Given the description of an element on the screen output the (x, y) to click on. 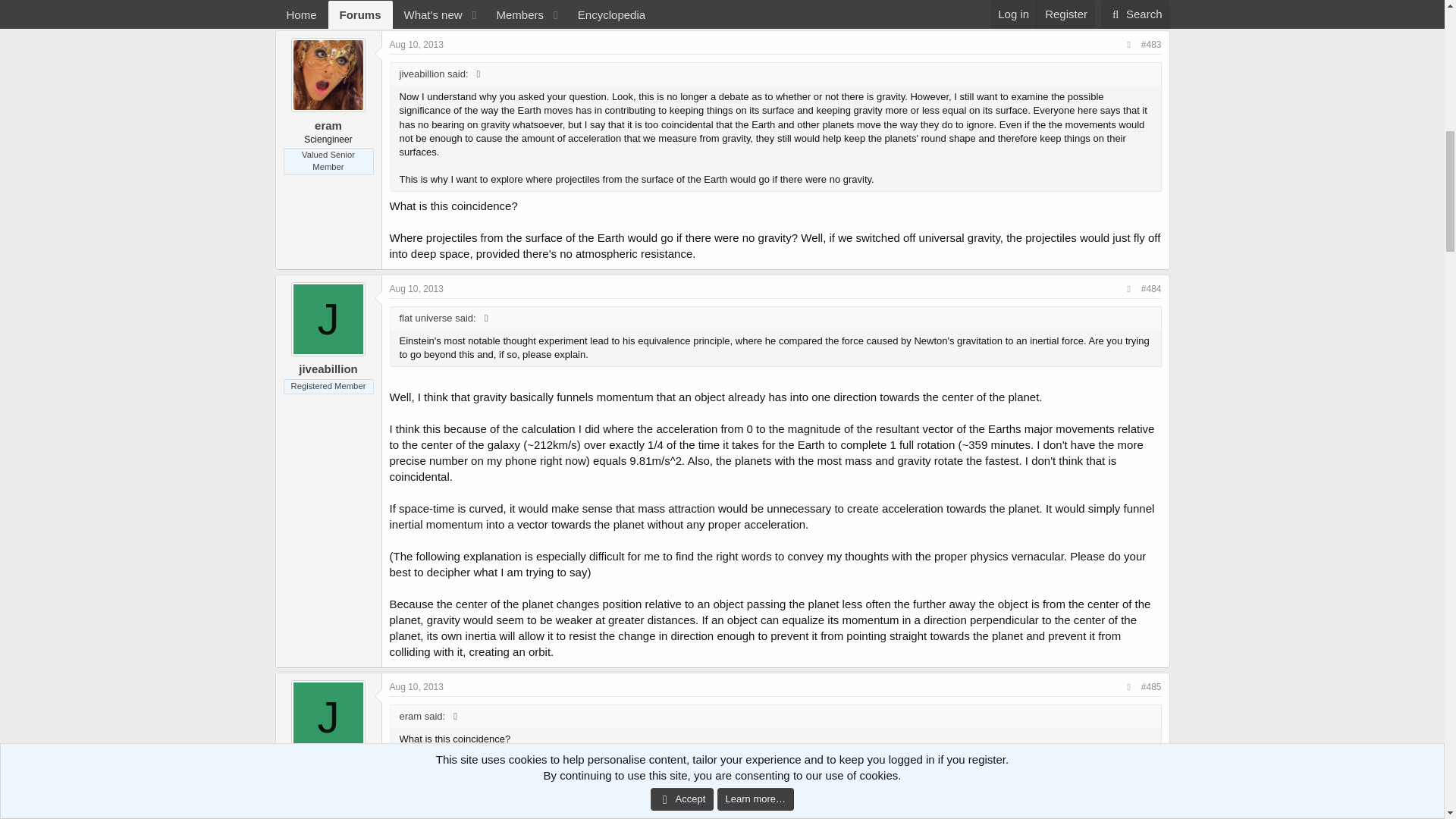
Aug 10, 2013 at 6:53 PM (417, 686)
Aug 10, 2013 at 6:47 PM (417, 288)
Aug 10, 2013 at 6:41 PM (417, 44)
